Given the description of an element on the screen output the (x, y) to click on. 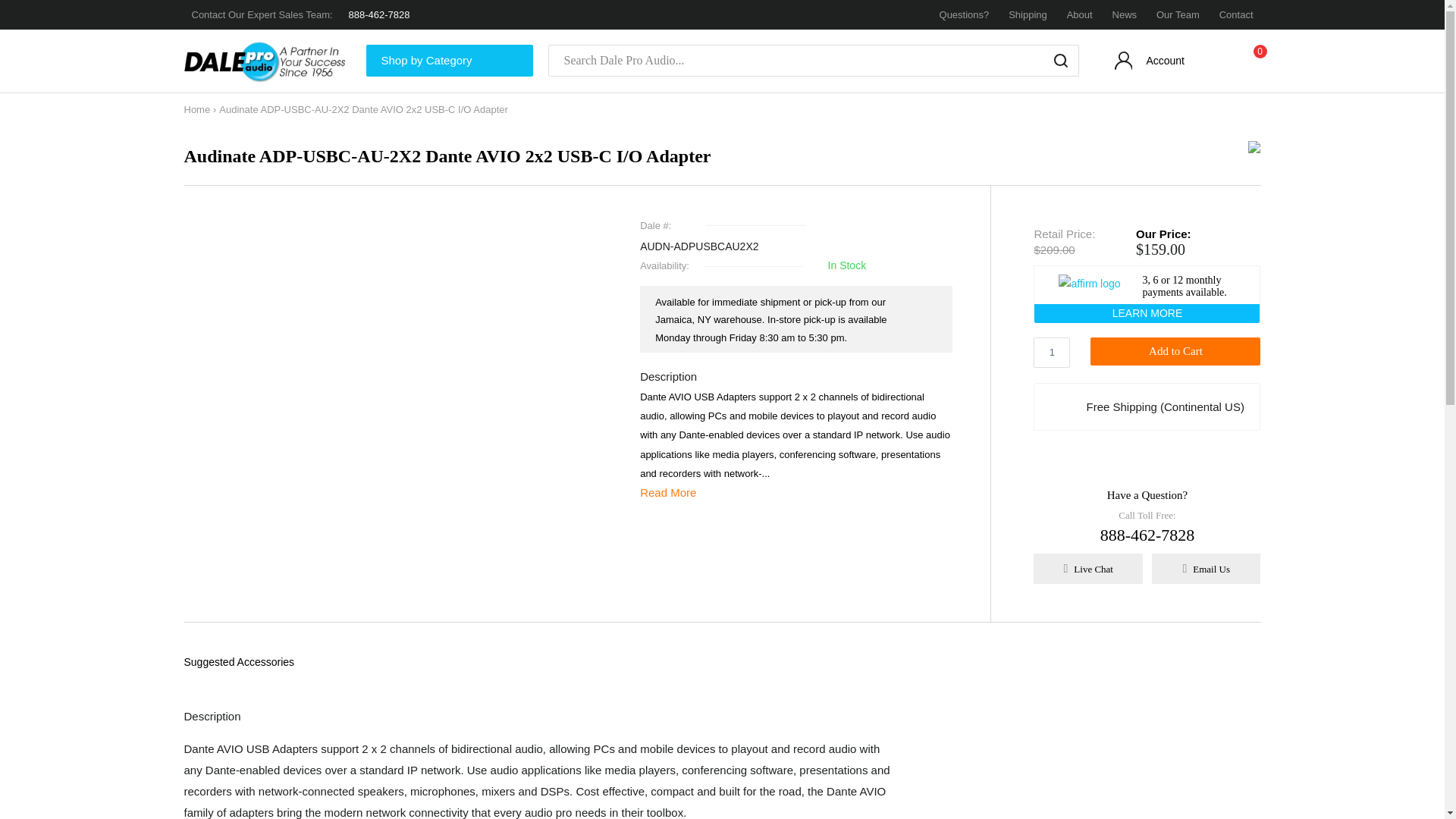
Account (1151, 63)
News (1124, 14)
Our Team (1177, 14)
About (1080, 14)
Dale Pro Audio (266, 61)
1 (1051, 352)
Contact (1236, 14)
Shipping (1027, 14)
888-462-7828 (379, 14)
Home (196, 109)
